Given the description of an element on the screen output the (x, y) to click on. 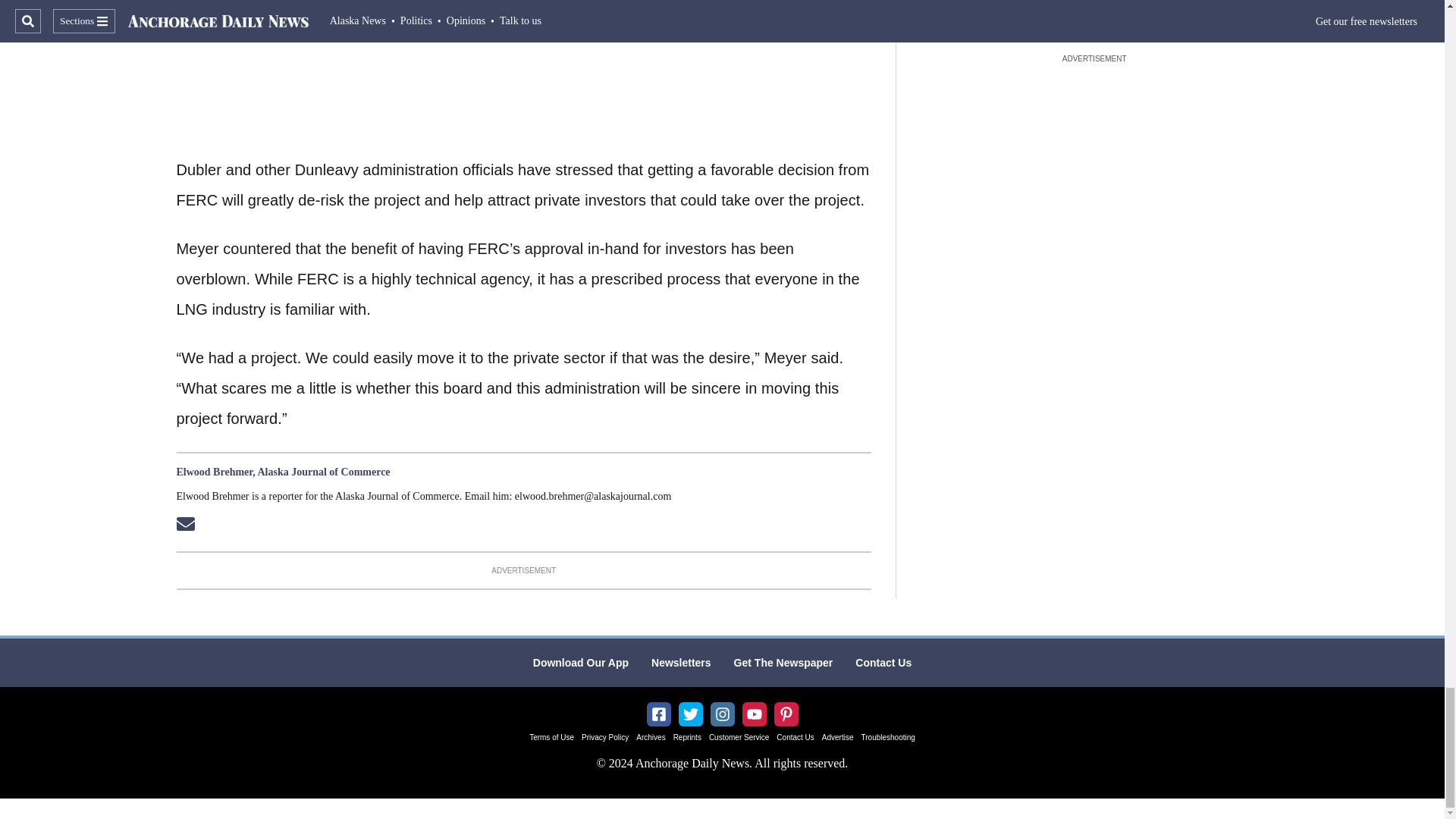
PinterestAnchorage Daily News Pinterest Account (785, 713)
Twitter IconTwitter Account for Anchorage Daily News (689, 713)
Instagram IconAnchorage Daily News instagram account (721, 713)
YouTube iconAnchorage Daily News YouTube channel (753, 713)
Facebook IconAnchorage Daily News Facebook Page (657, 713)
